Given the description of an element on the screen output the (x, y) to click on. 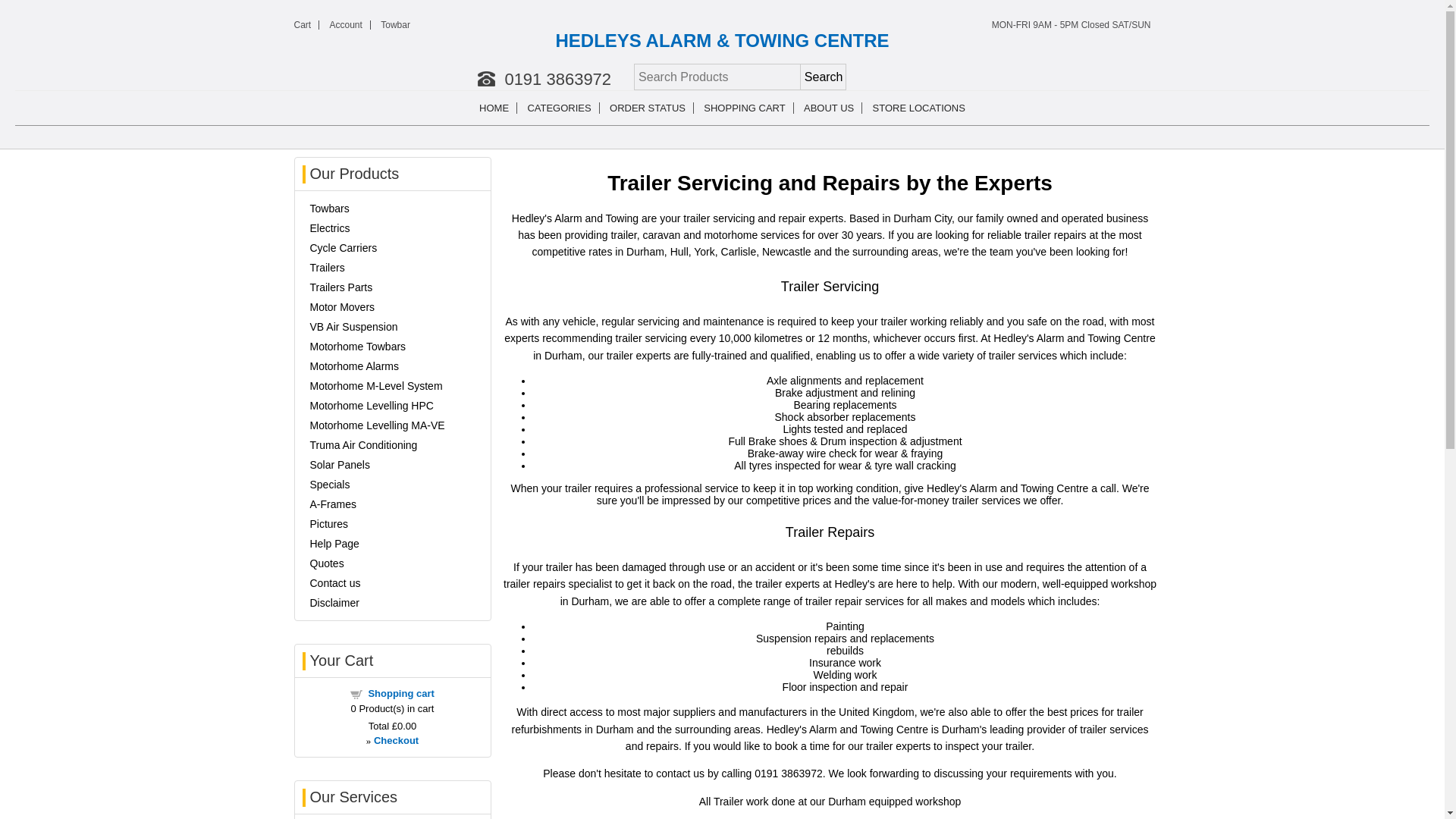
Motorhome Towbars (357, 346)
Towbars (328, 208)
Checkout (396, 740)
Map Location (918, 107)
Categories (559, 107)
Truma Air Conditioning (362, 444)
Solar Panels (338, 464)
Truma Air Conditioning (362, 444)
Trailer Parts (340, 287)
Towbars (328, 208)
ORDER STATUS (647, 107)
CATEGORIES (559, 107)
Contact us (333, 582)
Account (346, 24)
Trailers of All Sizes (325, 267)
